Given the description of an element on the screen output the (x, y) to click on. 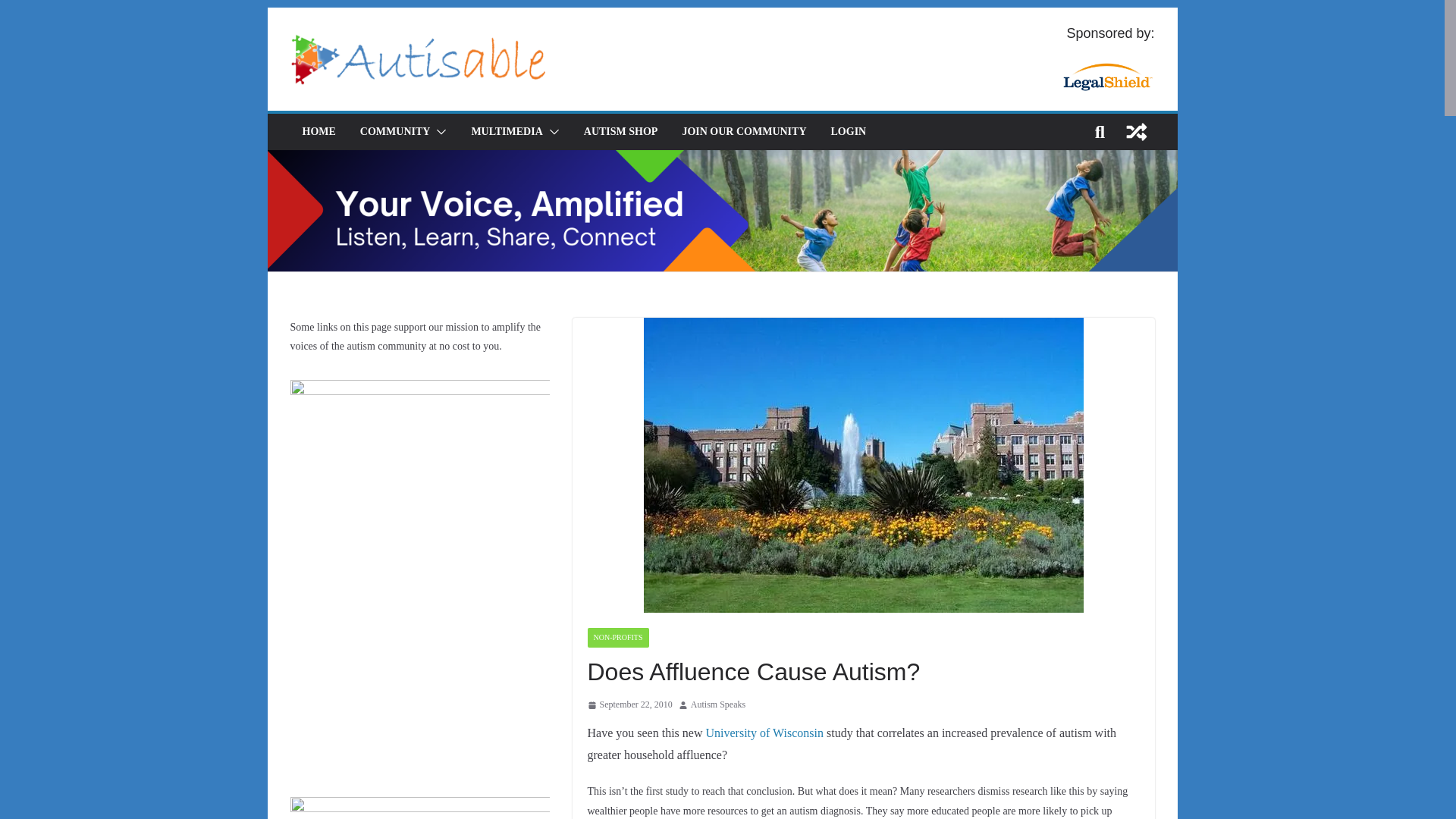
September 22, 2010 (628, 704)
MULTIMEDIA (505, 131)
LOGIN (848, 131)
University of Wisconsin (764, 732)
COMMUNITY (394, 131)
NON-PROFITS (616, 637)
Autism Speaks (717, 704)
HOME (317, 131)
View a random post (1136, 131)
AUTISM SHOP (620, 131)
